Given the description of an element on the screen output the (x, y) to click on. 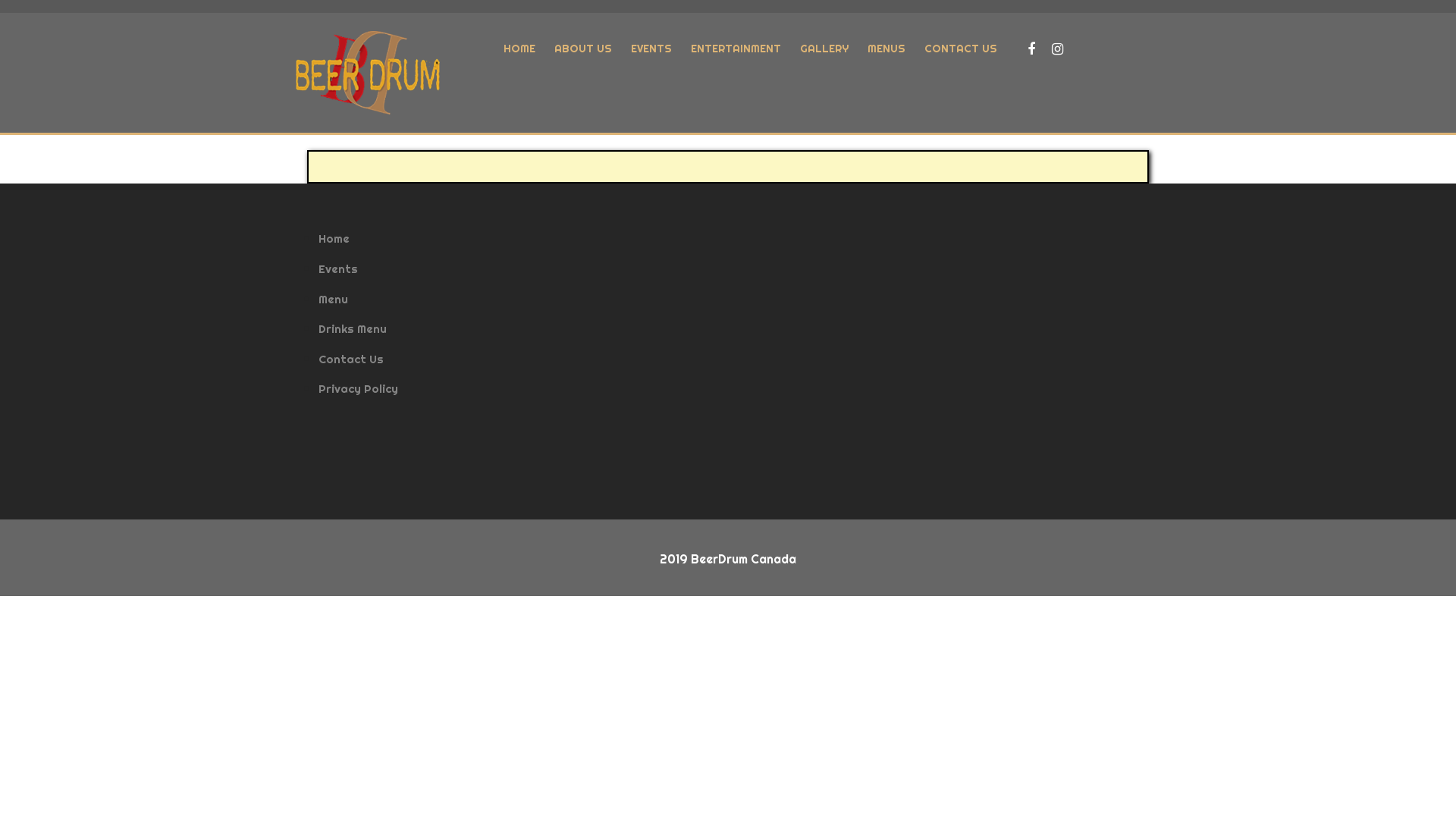
CONTACT US Element type: text (960, 48)
ABOUT US Element type: text (582, 48)
Events Element type: text (337, 268)
MENUS Element type: text (886, 48)
Menu Element type: text (333, 298)
Privacy Policy Element type: text (358, 388)
HOME Element type: text (518, 48)
GALLERY Element type: text (824, 48)
Contact Us Element type: text (350, 358)
Home Element type: text (333, 238)
ENTERTAINMENT Element type: text (735, 48)
EVENTS Element type: text (651, 48)
Drinks Menu Element type: text (352, 328)
